Given the description of an element on the screen output the (x, y) to click on. 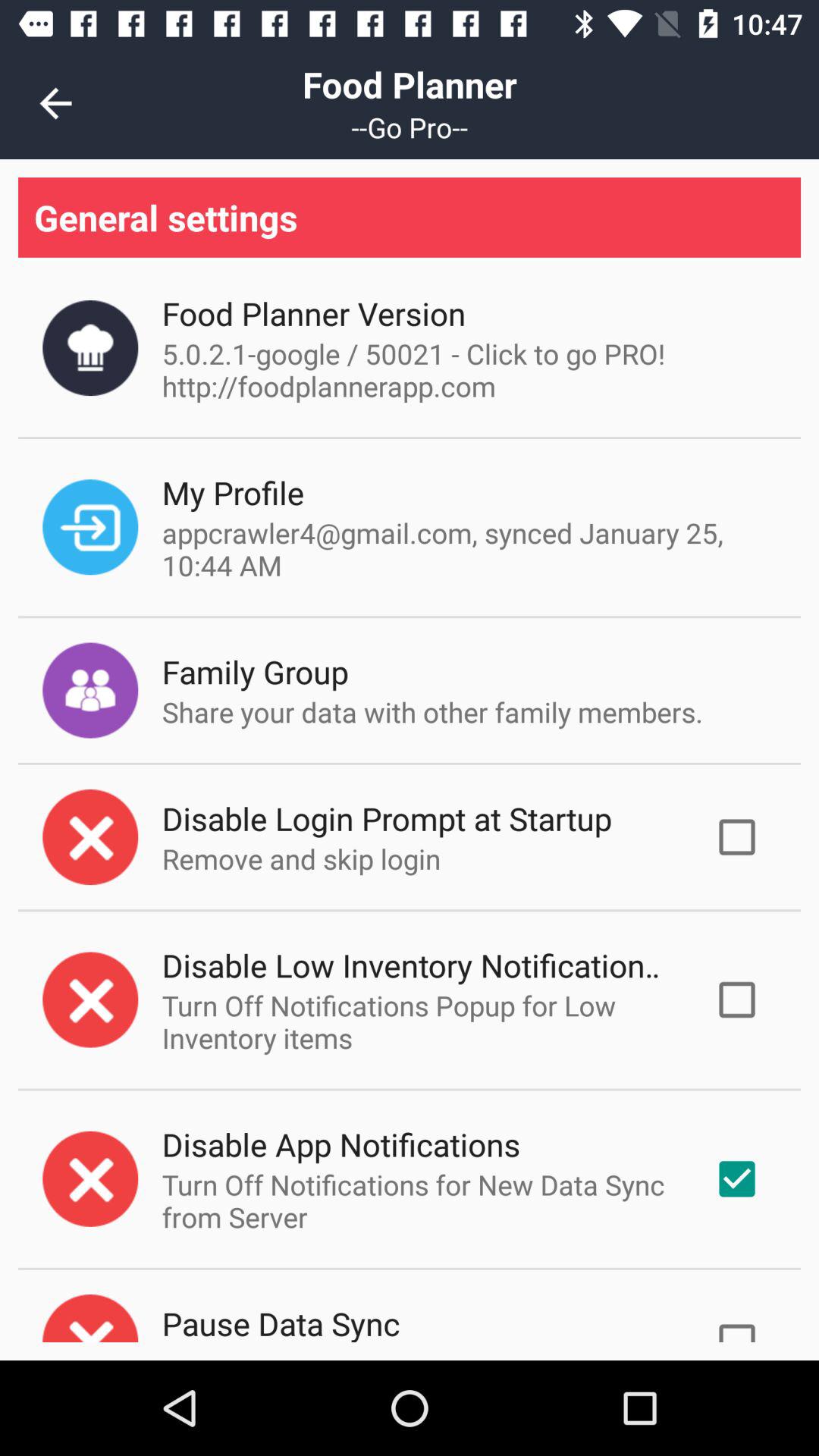
turn on icon below disable login prompt icon (301, 858)
